Given the description of an element on the screen output the (x, y) to click on. 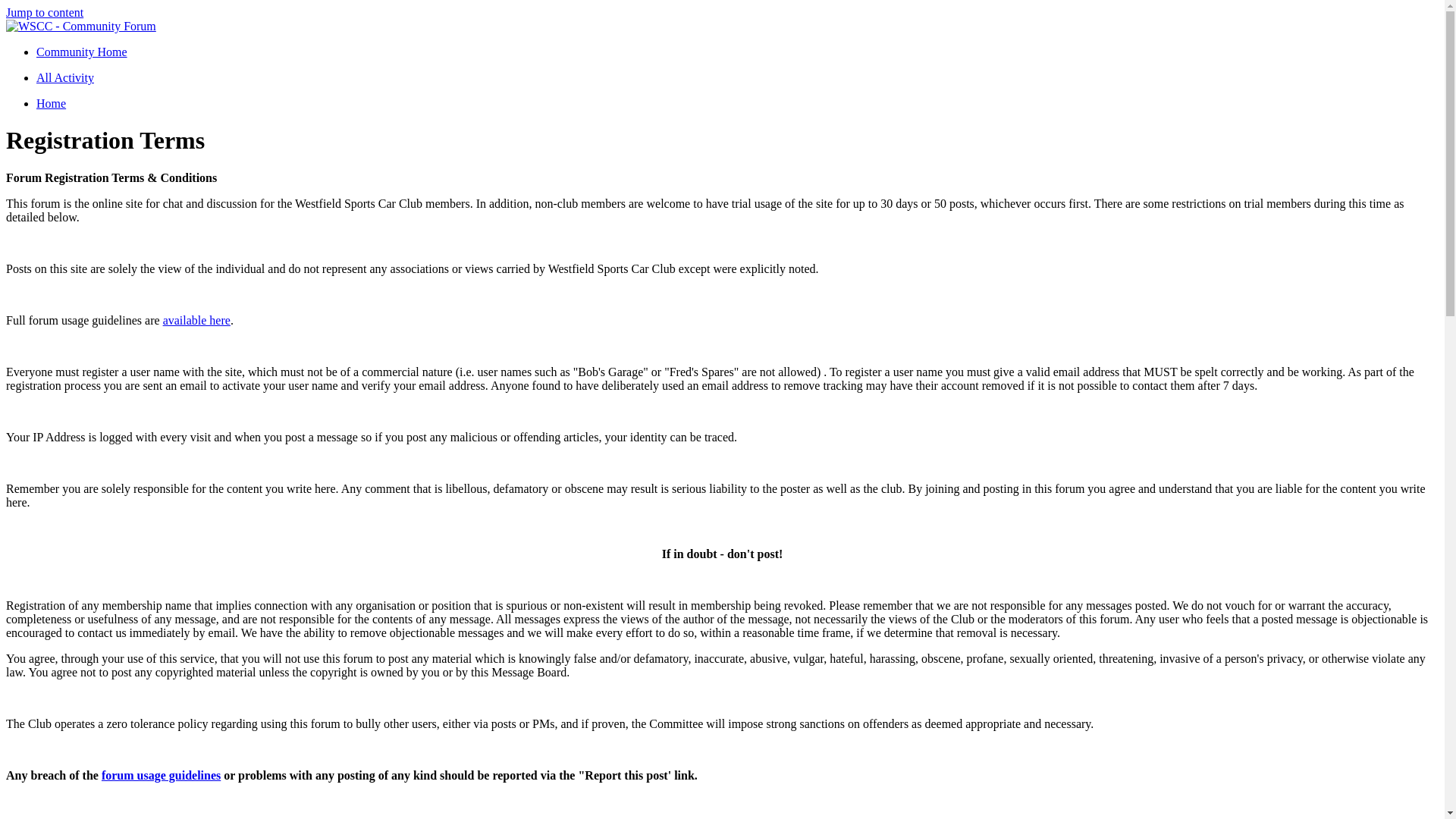
Jump to content (43, 11)
Home (50, 103)
Go to the community homepage (82, 51)
All Activity (65, 77)
Go to main content on this page (43, 11)
forum usage guidelines (161, 775)
Community Home (82, 51)
available here (196, 319)
Home (50, 103)
